Given the description of an element on the screen output the (x, y) to click on. 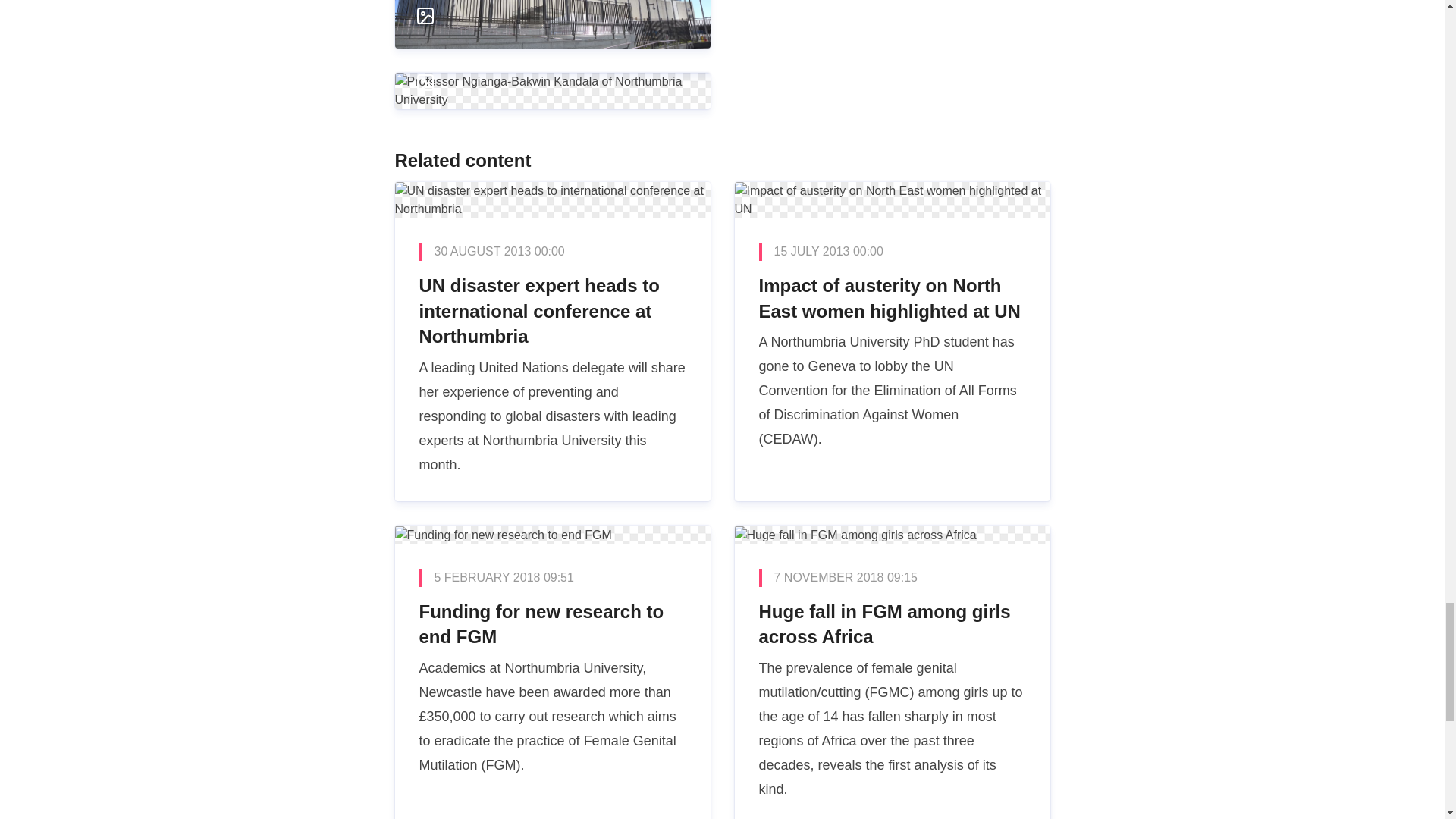
Funding for new research to end FGM (552, 672)
Huge fall in FGM among girls across Africa (891, 672)
Impact of austerity on North East women highlighted at UN (891, 341)
Professor Ngianga-Bakwin Kandala of Northumbria University (551, 55)
